Given the description of an element on the screen output the (x, y) to click on. 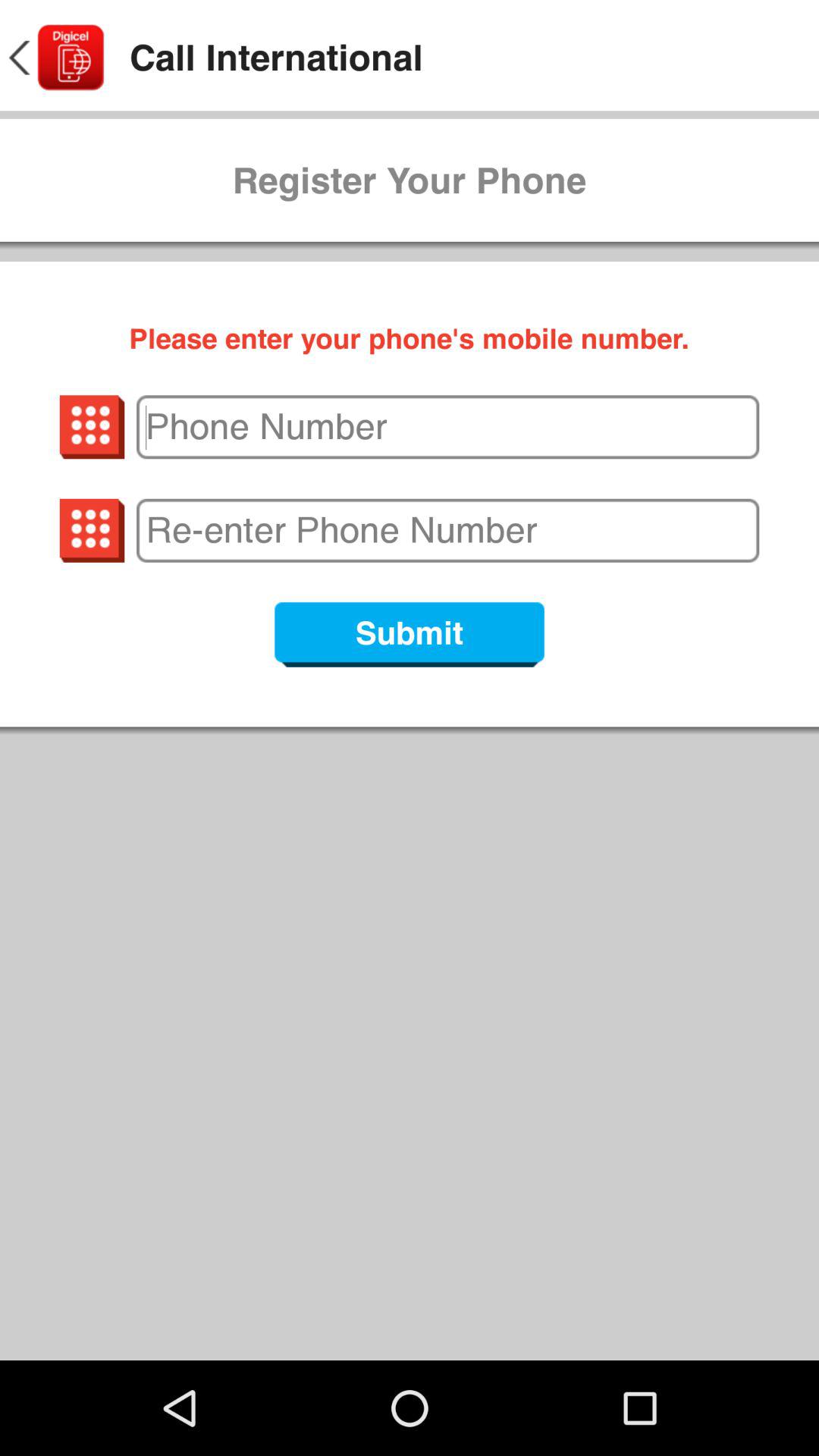
click icon to the left of call international app (54, 57)
